Given the description of an element on the screen output the (x, y) to click on. 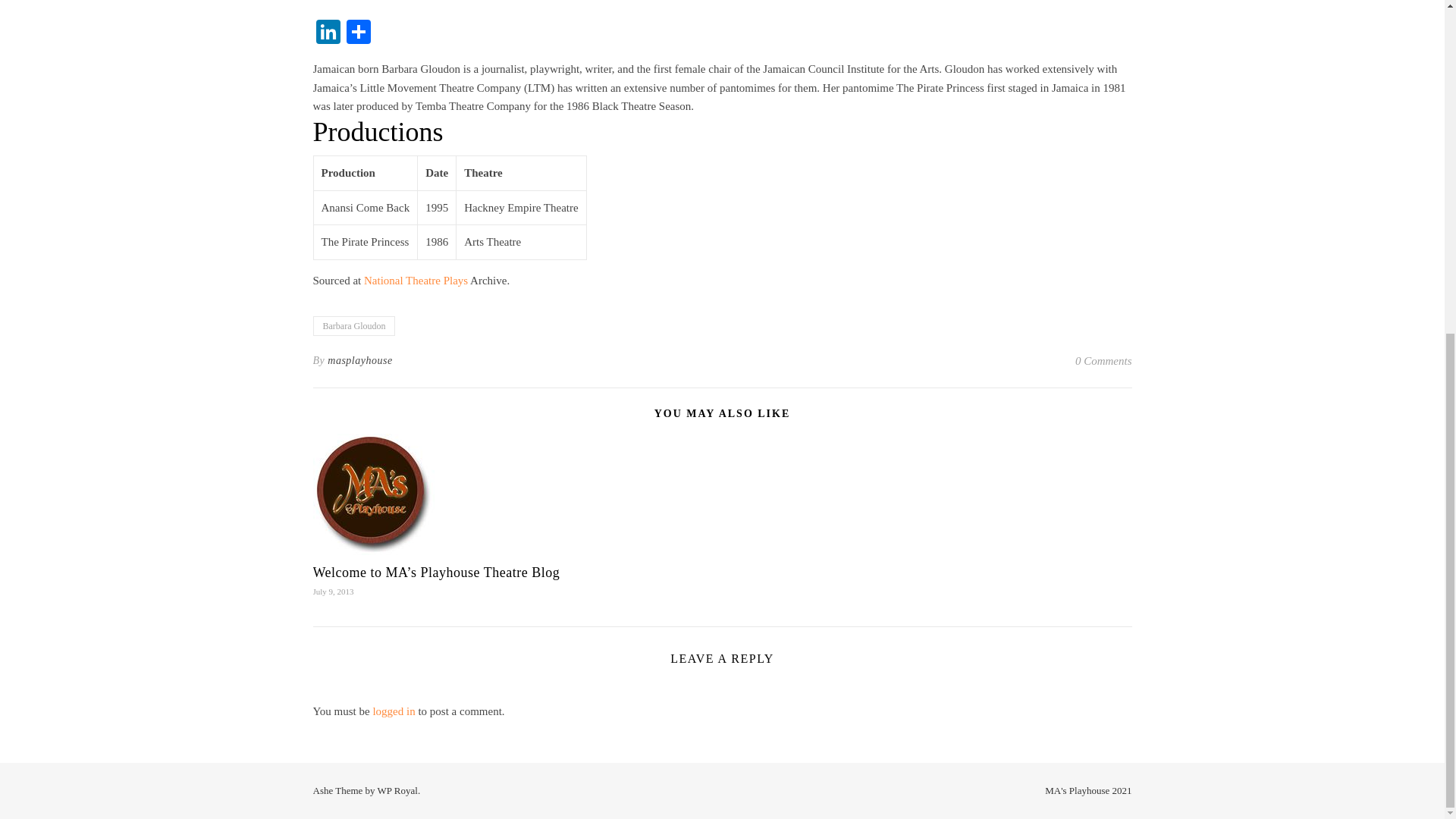
WP Royal (397, 790)
Barbara Gloudon (353, 325)
LinkedIn (327, 33)
LinkedIn (327, 33)
National Theatre Plays (415, 280)
0 Comments (1103, 360)
masplayhouse (359, 360)
logged in (393, 711)
Posts by masplayhouse (359, 360)
